Given the description of an element on the screen output the (x, y) to click on. 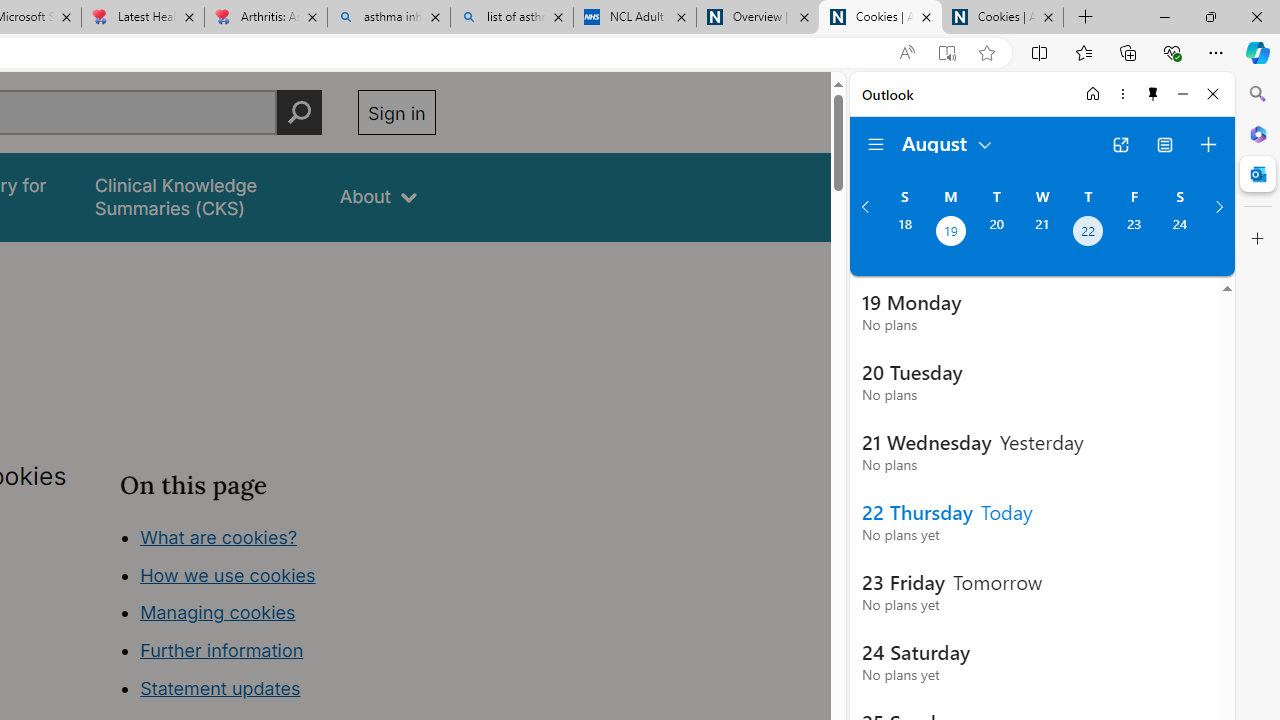
What are cookies? (218, 536)
Saturday, August 24, 2024.  (1180, 233)
Sunday, August 18, 2024.  (904, 233)
false (198, 196)
